Given the description of an element on the screen output the (x, y) to click on. 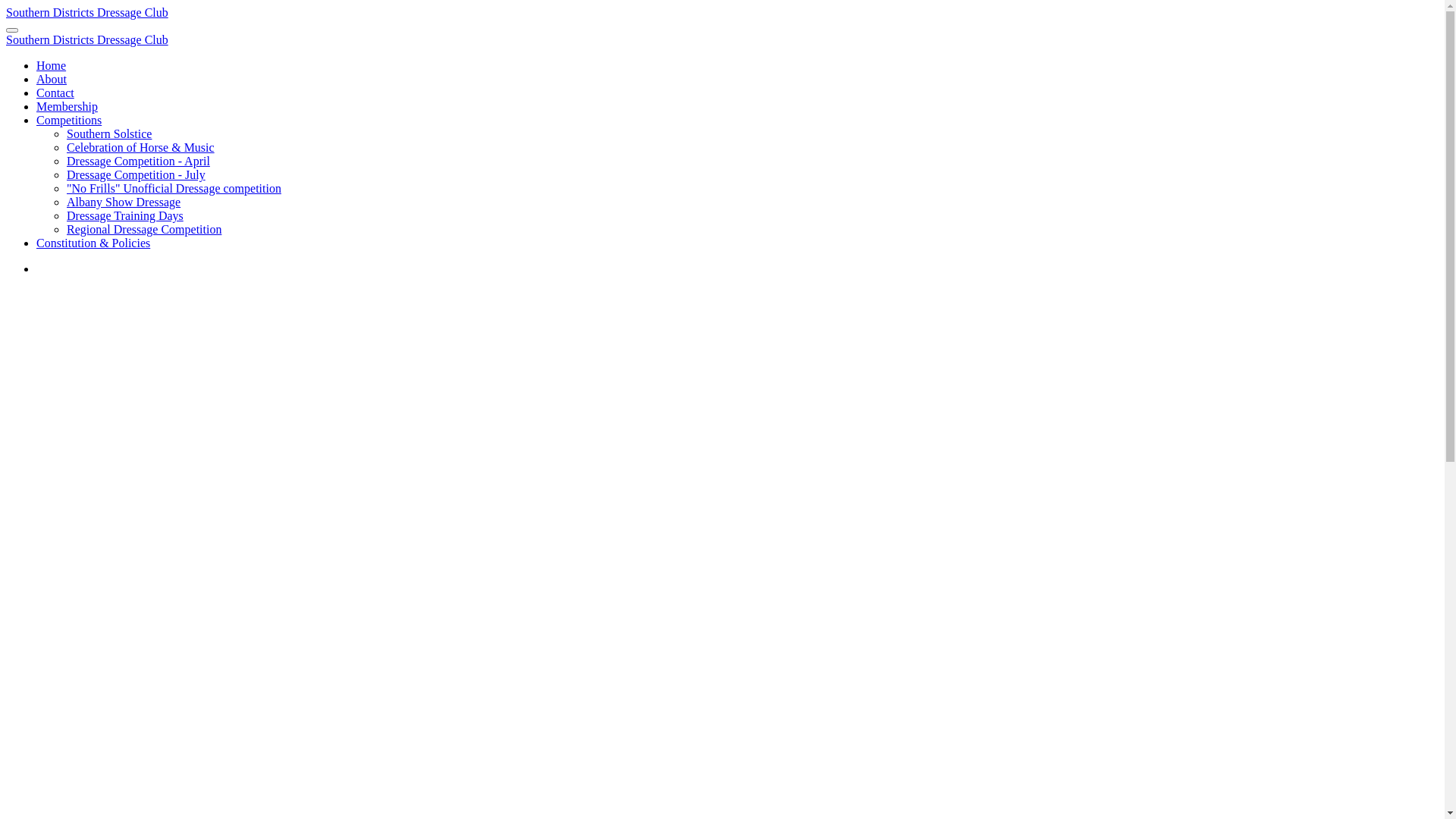
Membership Element type: text (66, 106)
Contact Element type: text (55, 92)
Dressage Training Days Element type: text (124, 215)
Dressage Competition - April Element type: text (138, 160)
Dressage Competition - July Element type: text (135, 174)
Constitution & Policies Element type: text (93, 242)
Albany Show Dressage Element type: text (123, 201)
Competitions Element type: text (68, 119)
Southern Districts Dressage Club Element type: text (87, 12)
"No Frills" Unofficial Dressage competition Element type: text (173, 188)
Southern Solstice Element type: text (108, 133)
Regional Dressage Competition Element type: text (143, 228)
About Element type: text (51, 78)
Southern Districts Dressage Club Element type: text (87, 39)
Home Element type: text (50, 65)
Celebration of Horse & Music Element type: text (140, 147)
